Given the description of an element on the screen output the (x, y) to click on. 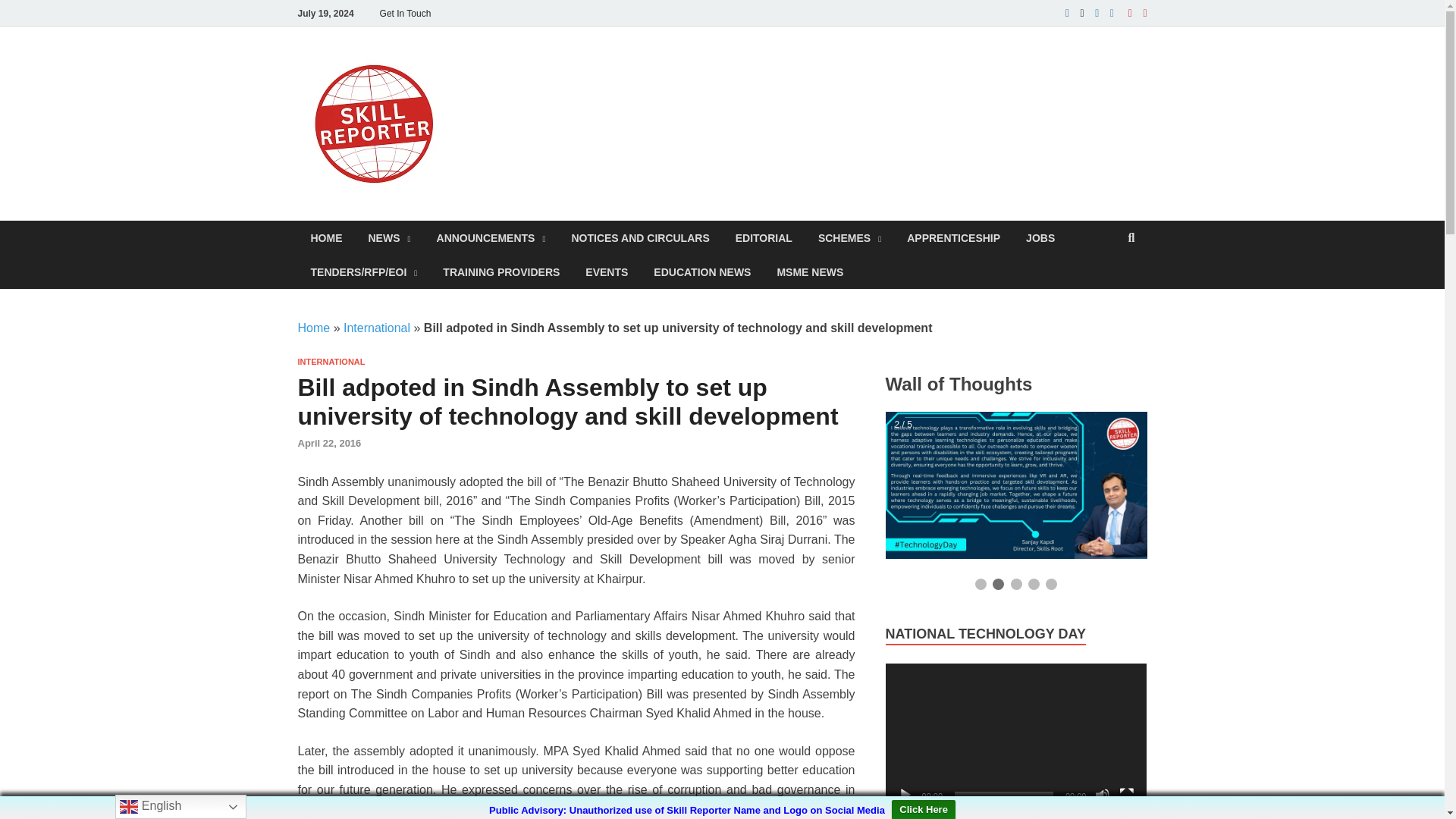
Skill Reporter (550, 78)
Get In Touch (405, 13)
Skill News (389, 237)
notices-circulars (639, 237)
Schemes (849, 237)
Home (326, 237)
HOME (326, 237)
NEWS (389, 237)
